Given the description of an element on the screen output the (x, y) to click on. 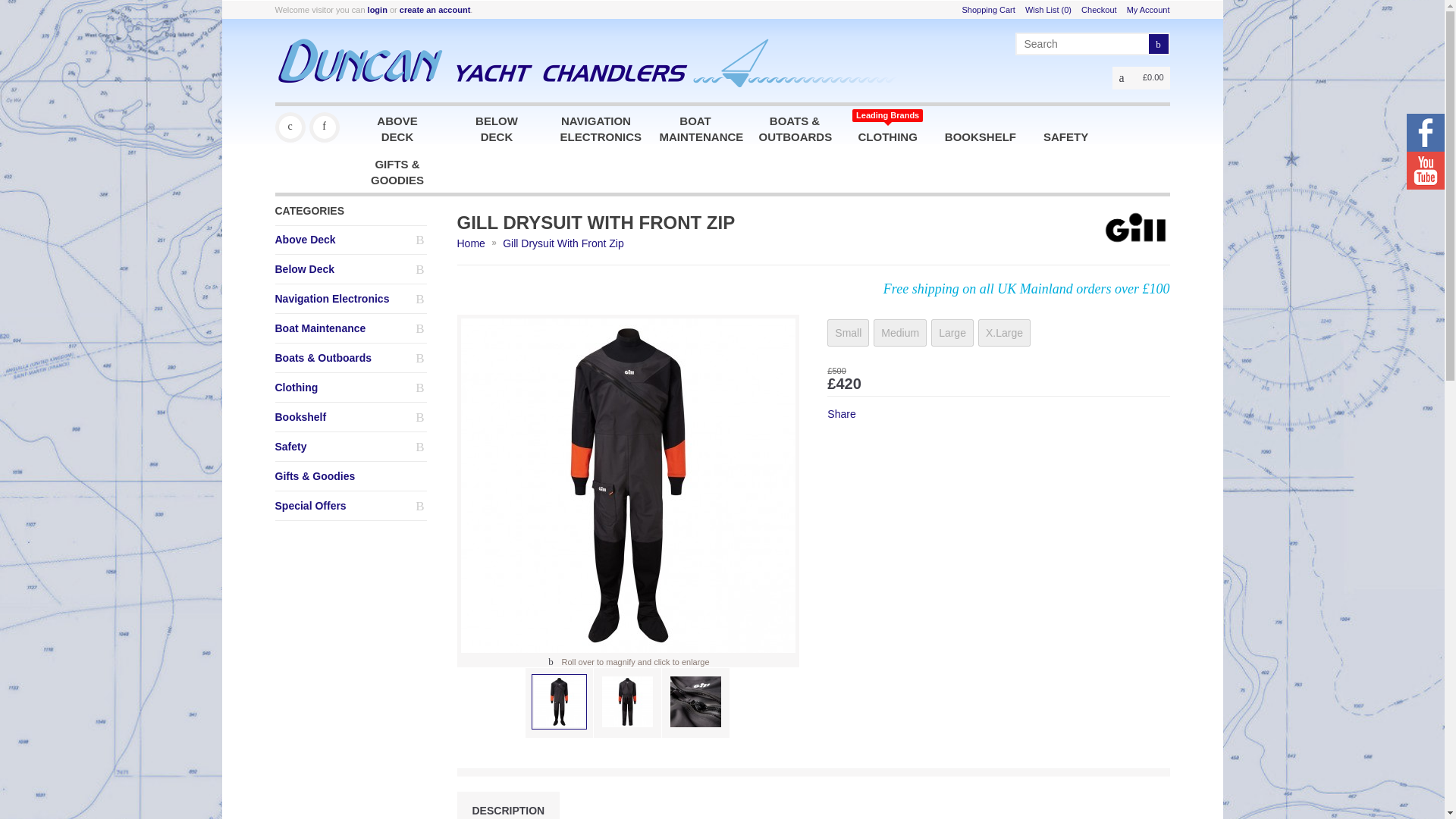
Gill Drysuit With Front Zip (695, 701)
Gill Drysuit With Front Zip (627, 701)
Gill Drysuit With Front Zip (558, 701)
ABOVE DECK (396, 127)
Duncan Yacht Chandlers (323, 127)
Gill Drysuit With Front Zip (627, 485)
Previous Page (323, 127)
Duncan Yacht Chandlers (290, 127)
Gill Drysuit With Front Zip (695, 702)
My Account (1148, 9)
login (377, 9)
Duncan Yacht Chandlers (290, 127)
Gill Drysuit With Front Zip (558, 702)
Shopping Cart (988, 9)
Checkout (1098, 9)
